Given the description of an element on the screen output the (x, y) to click on. 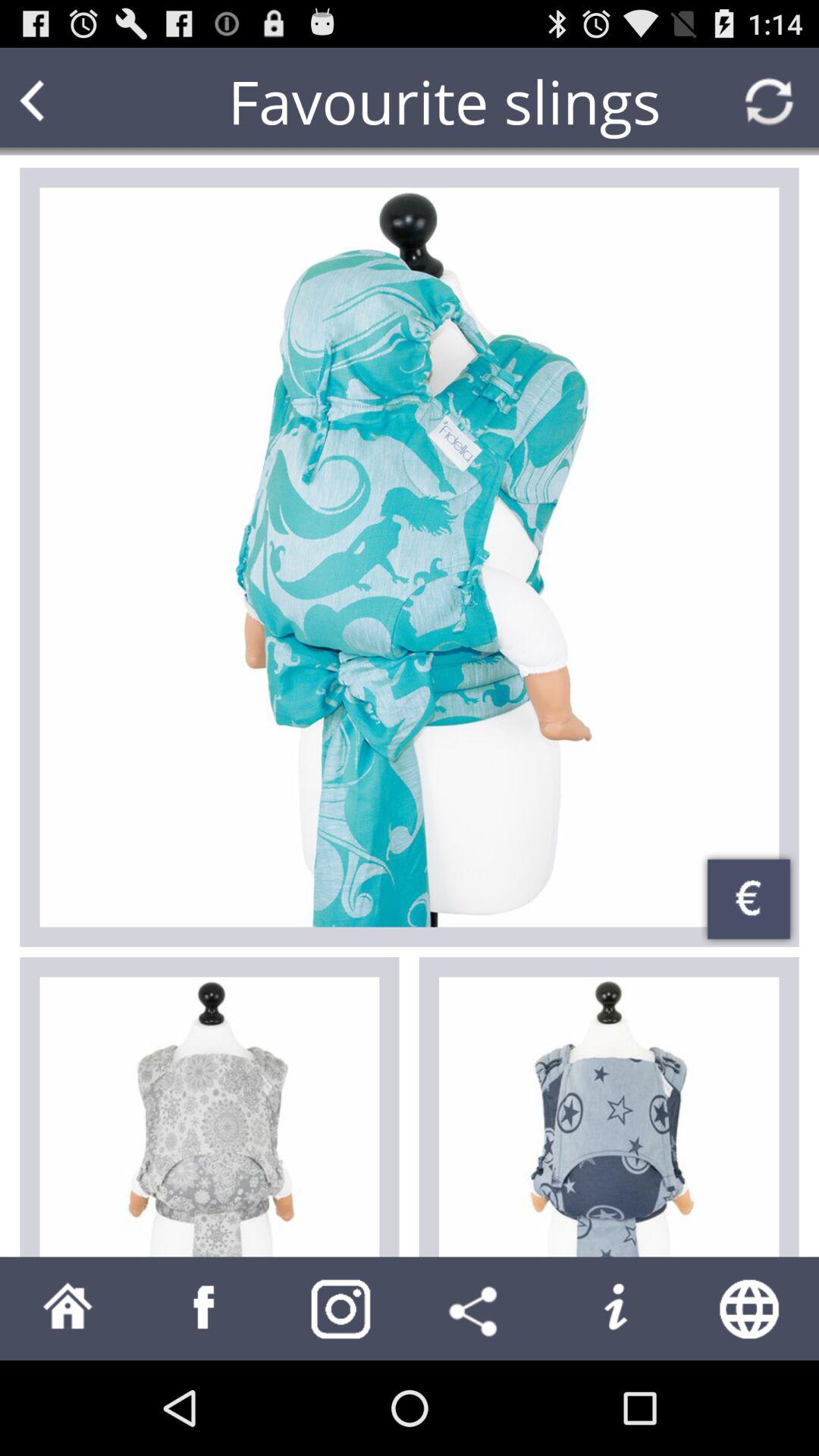
open facebook (204, 1308)
